Given the description of an element on the screen output the (x, y) to click on. 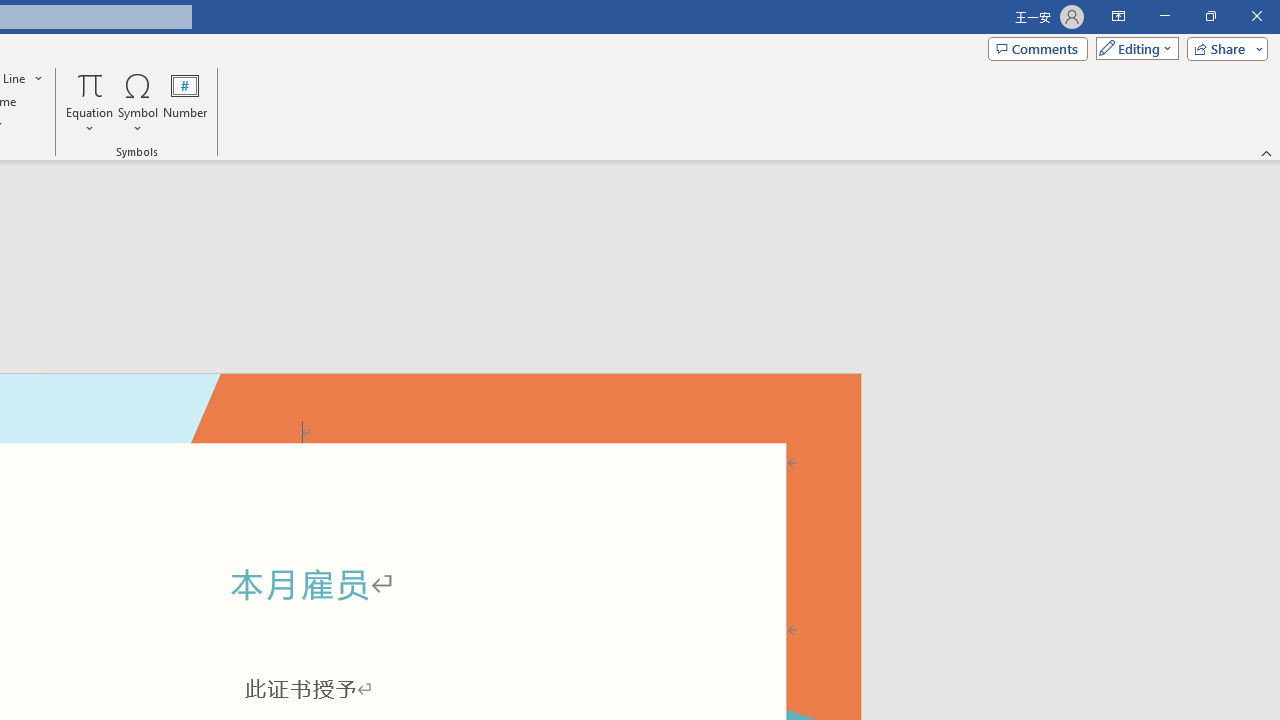
Number... (185, 102)
Symbol (138, 102)
